Given the description of an element on the screen output the (x, y) to click on. 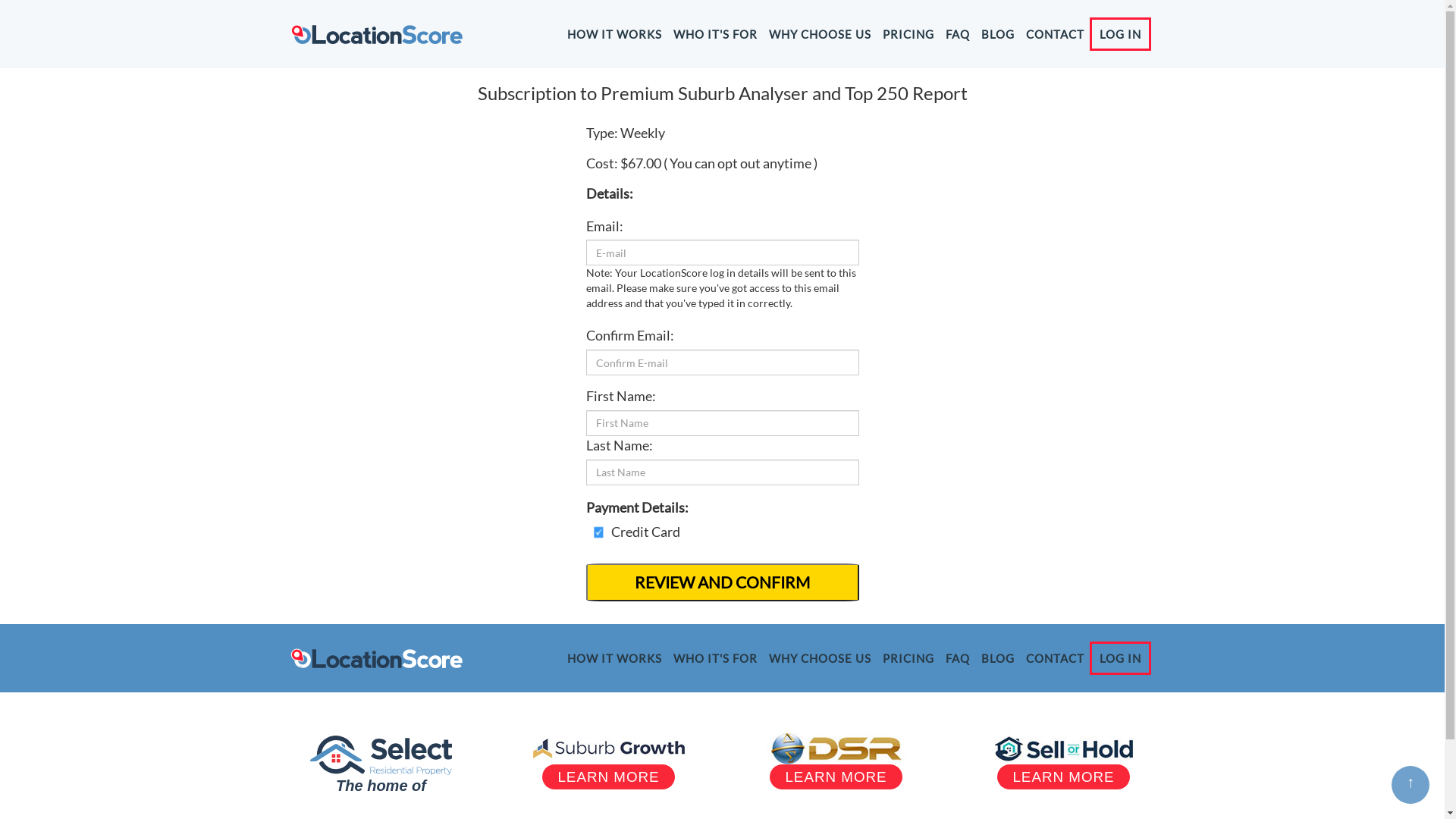
REVIEW AND CONFIRM Element type: text (721, 582)
LEARN MORE Element type: text (1063, 776)
WHY CHOOSE US Element type: text (819, 658)
WHO IT'S FOR Element type: text (715, 34)
WHY CHOOSE US Element type: text (819, 34)
HOW IT WORKS Element type: text (614, 34)
LOG IN Element type: text (1122, 34)
CONTACT Element type: text (1054, 658)
LEARN MORE Element type: text (608, 776)
The home of Element type: text (380, 785)
FAQ Element type: text (956, 34)
LOG IN Element type: text (1122, 658)
PRICING Element type: text (908, 34)
BLOG Element type: text (997, 34)
PRICING Element type: text (908, 658)
LEARN MORE Element type: text (835, 776)
HOW IT WORKS Element type: text (614, 658)
WHO IT'S FOR Element type: text (715, 658)
FAQ Element type: text (956, 658)
BLOG Element type: text (997, 658)
CONTACT Element type: text (1054, 34)
